Given the description of an element on the screen output the (x, y) to click on. 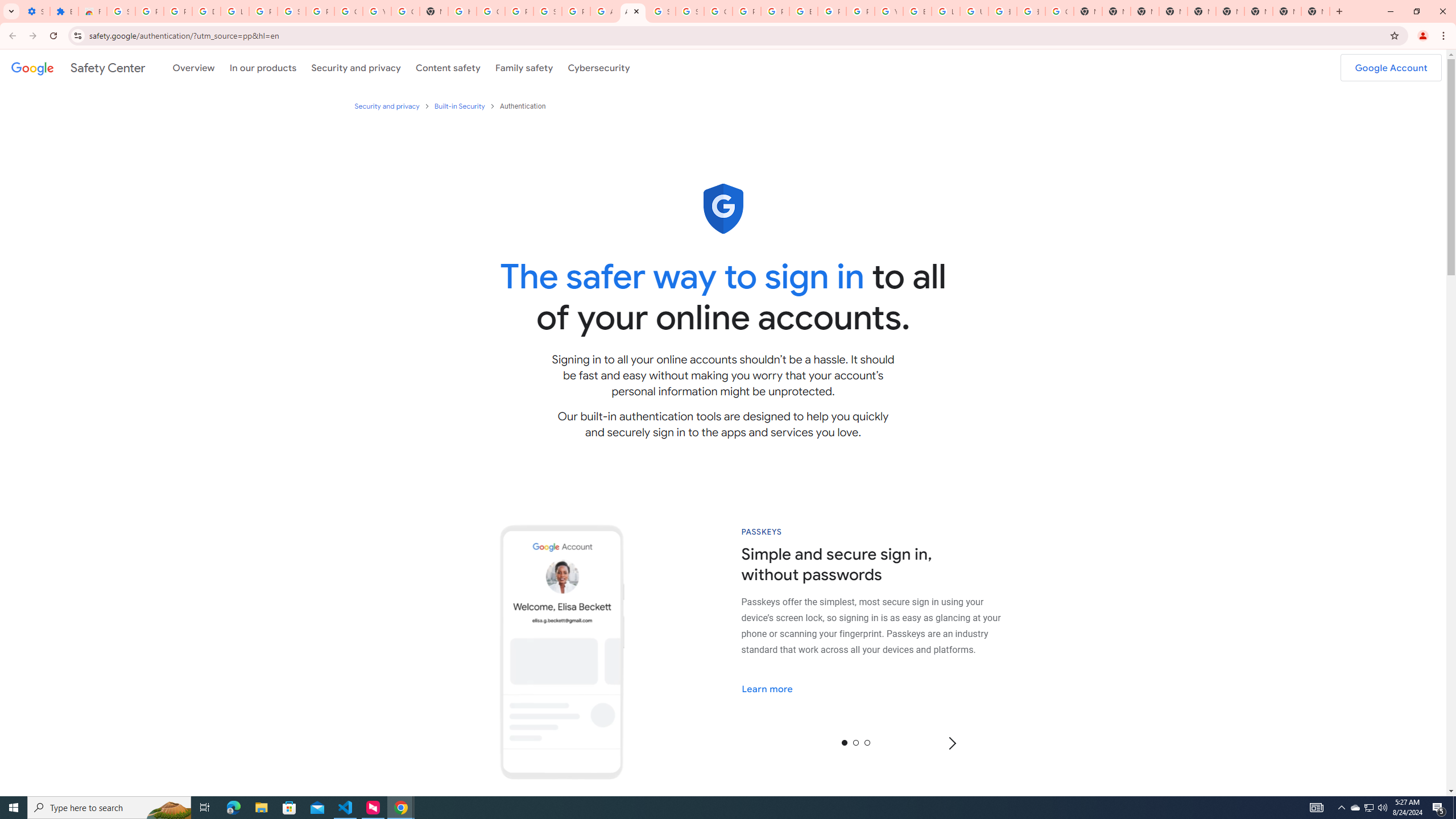
2 (866, 742)
Privacy Help Center - Policies Help (746, 11)
Next (951, 742)
Family safety (523, 67)
Google Images (1058, 11)
Cybersecurity (598, 67)
Reviews: Helix Fruit Jump Arcade Game (92, 11)
